Given the description of an element on the screen output the (x, y) to click on. 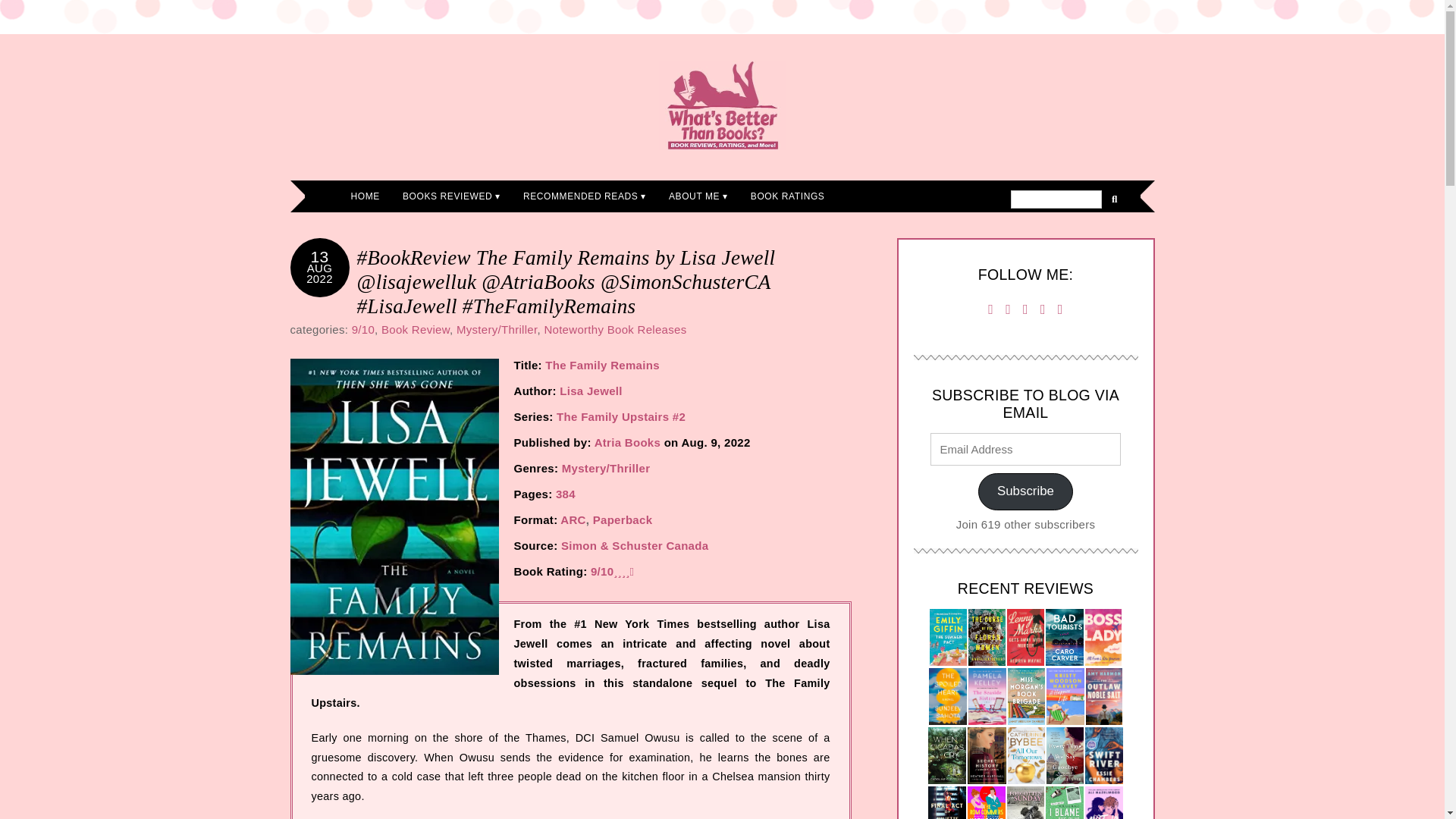
Atria Books (627, 441)
RECOMMENDED READS (585, 196)
13 (320, 255)
BOOKS REVIEWED (451, 196)
Book Review (415, 328)
What's Better Than Books? (722, 104)
HOME (365, 196)
Paperback (622, 519)
Search (1056, 199)
ABOUT ME (698, 196)
BOOK RATINGS (787, 196)
Noteworthy Book Releases (614, 328)
Lisa Jewell (591, 390)
ARC (572, 519)
